Given the description of an element on the screen output the (x, y) to click on. 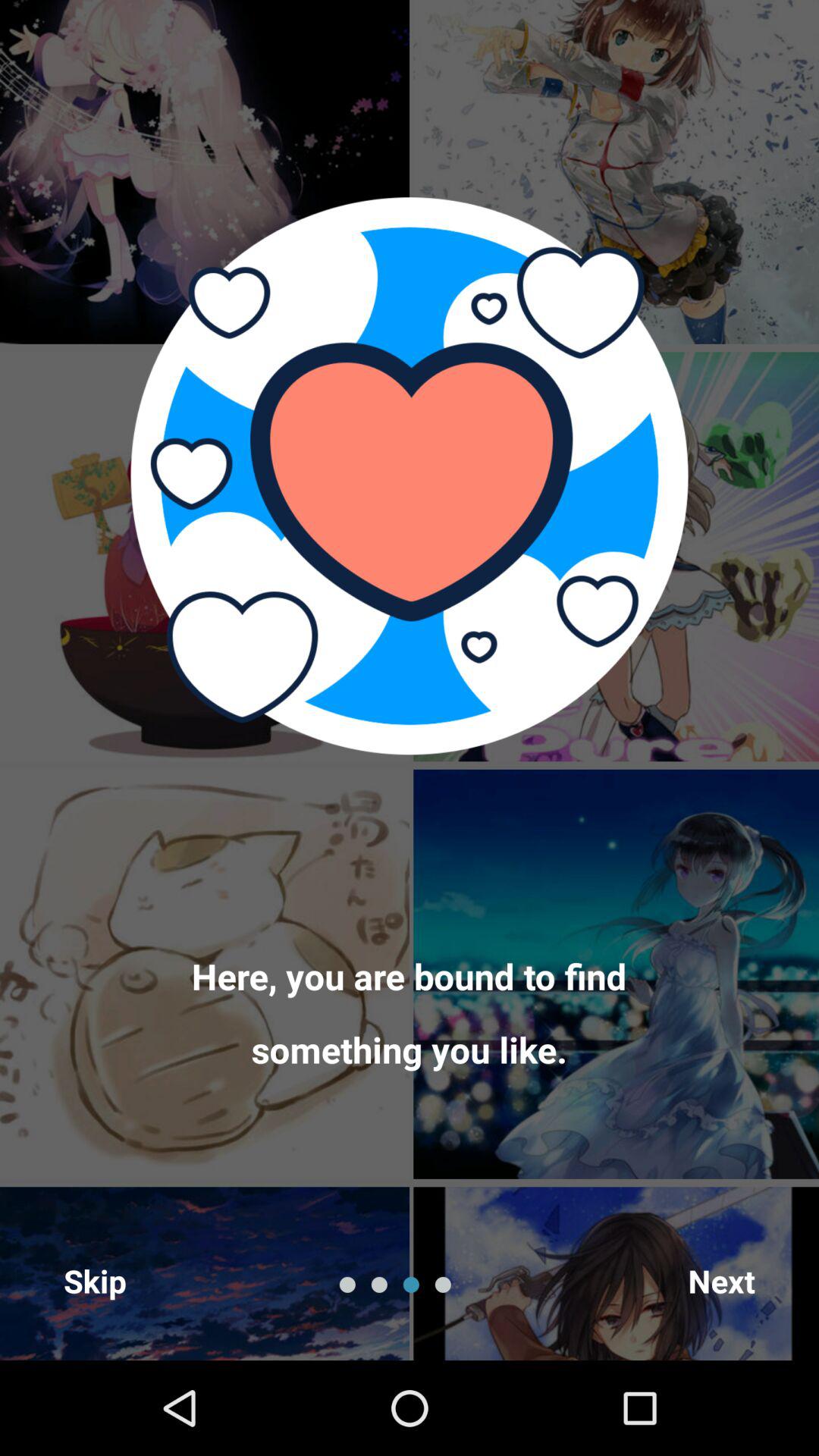
click on the circle image which has heart shapes in it (409, 475)
